Given the description of an element on the screen output the (x, y) to click on. 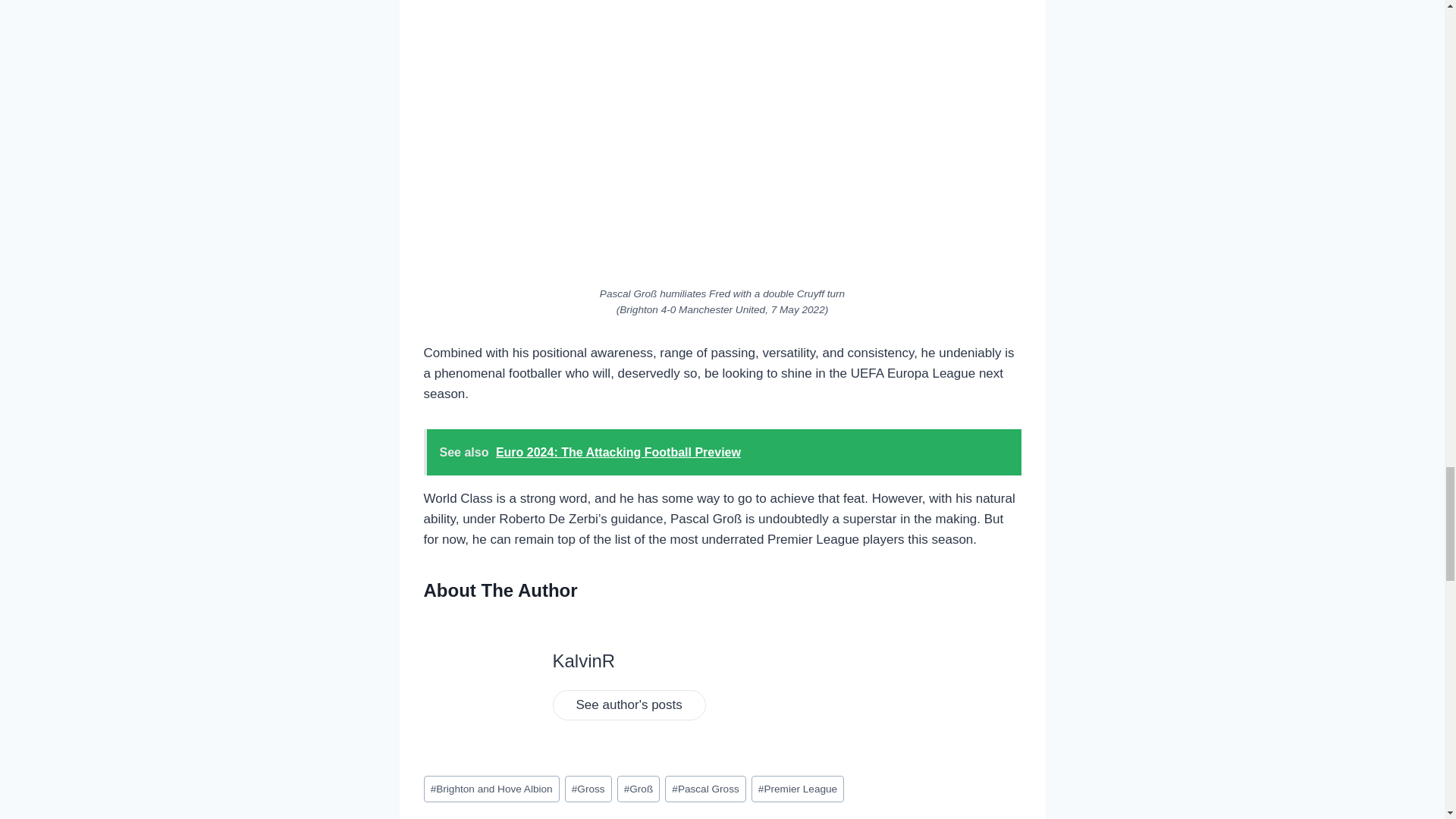
Pascal Gross (705, 788)
KalvinR (582, 660)
See author's posts (627, 704)
Brighton and Hove Albion (491, 788)
See also  Euro 2024: The Attacking Football Preview (721, 452)
Gross (587, 788)
